Given the description of an element on the screen output the (x, y) to click on. 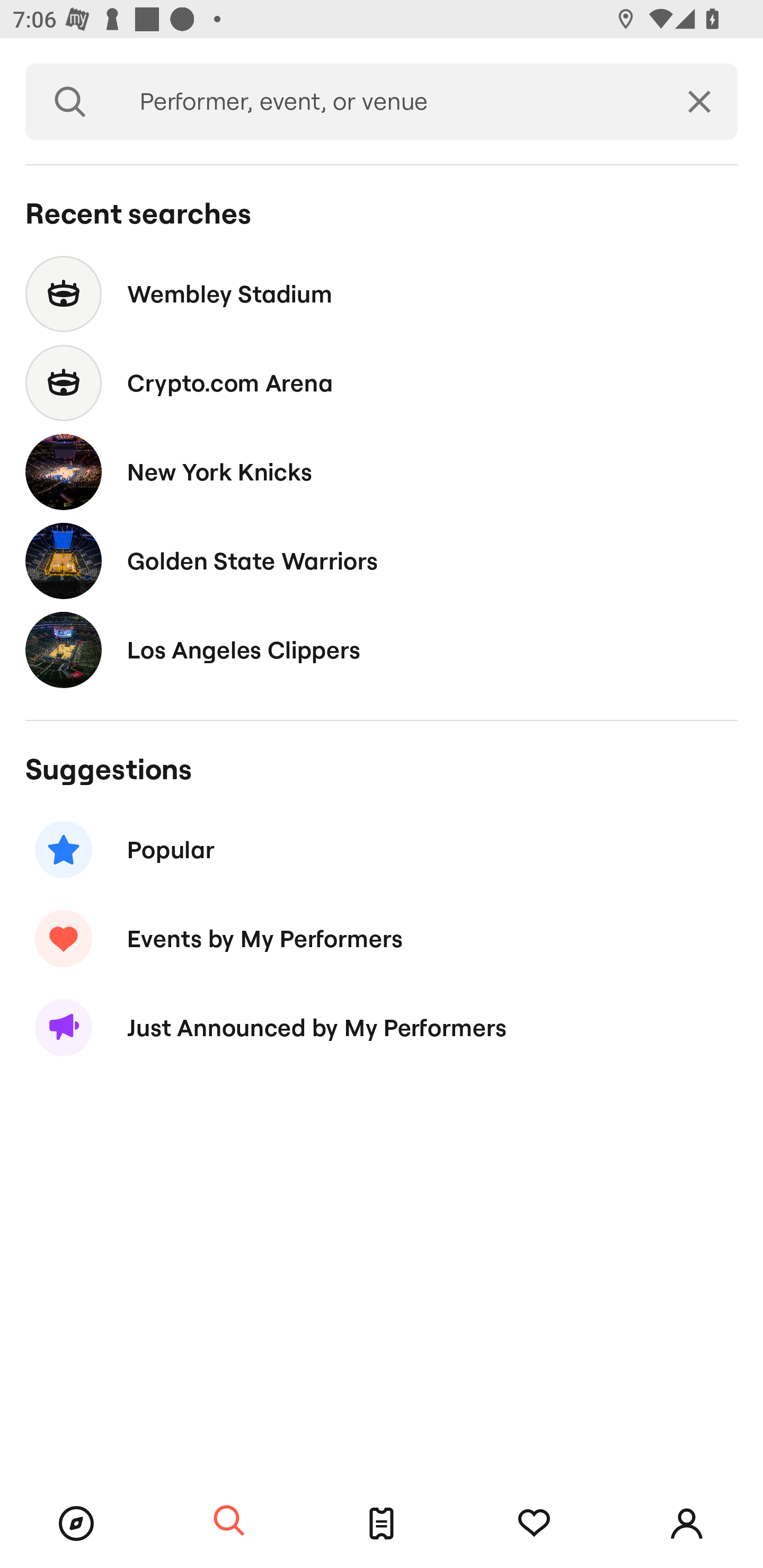
Search (69, 101)
Performer, event, or venue (387, 101)
Clear (699, 101)
Wembley Stadium (381, 293)
Crypto.com Arena (381, 383)
New York Knicks (381, 471)
Golden State Warriors (381, 560)
Los Angeles Clippers (381, 649)
Popular (381, 849)
Events by My Performers (381, 938)
Just Announced by My Performers (381, 1027)
Browse (76, 1523)
Search (228, 1521)
Tickets (381, 1523)
Tracking (533, 1523)
Account (686, 1523)
